Given the description of an element on the screen output the (x, y) to click on. 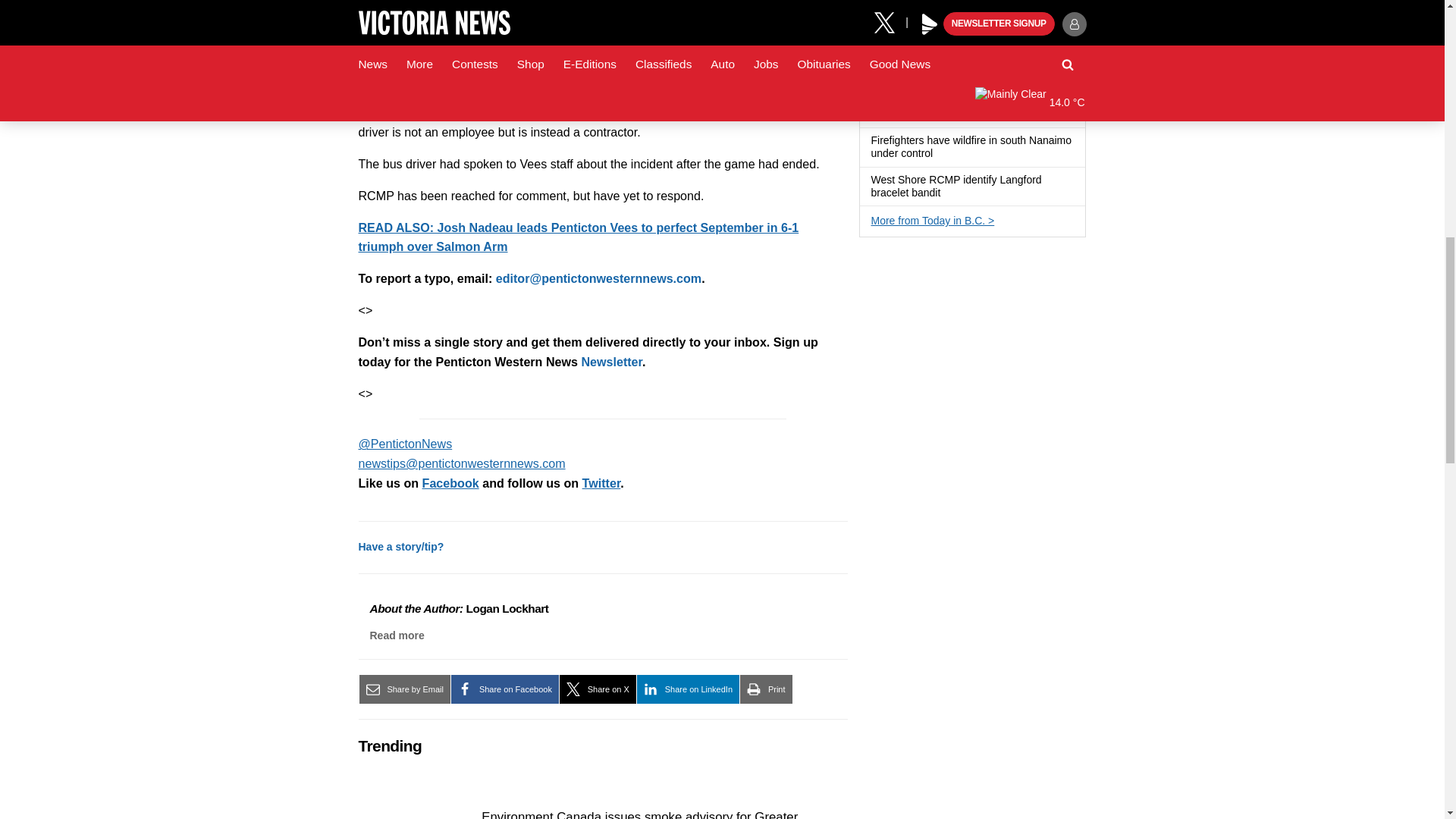
Has a gallery (1050, 36)
